Given the description of an element on the screen output the (x, y) to click on. 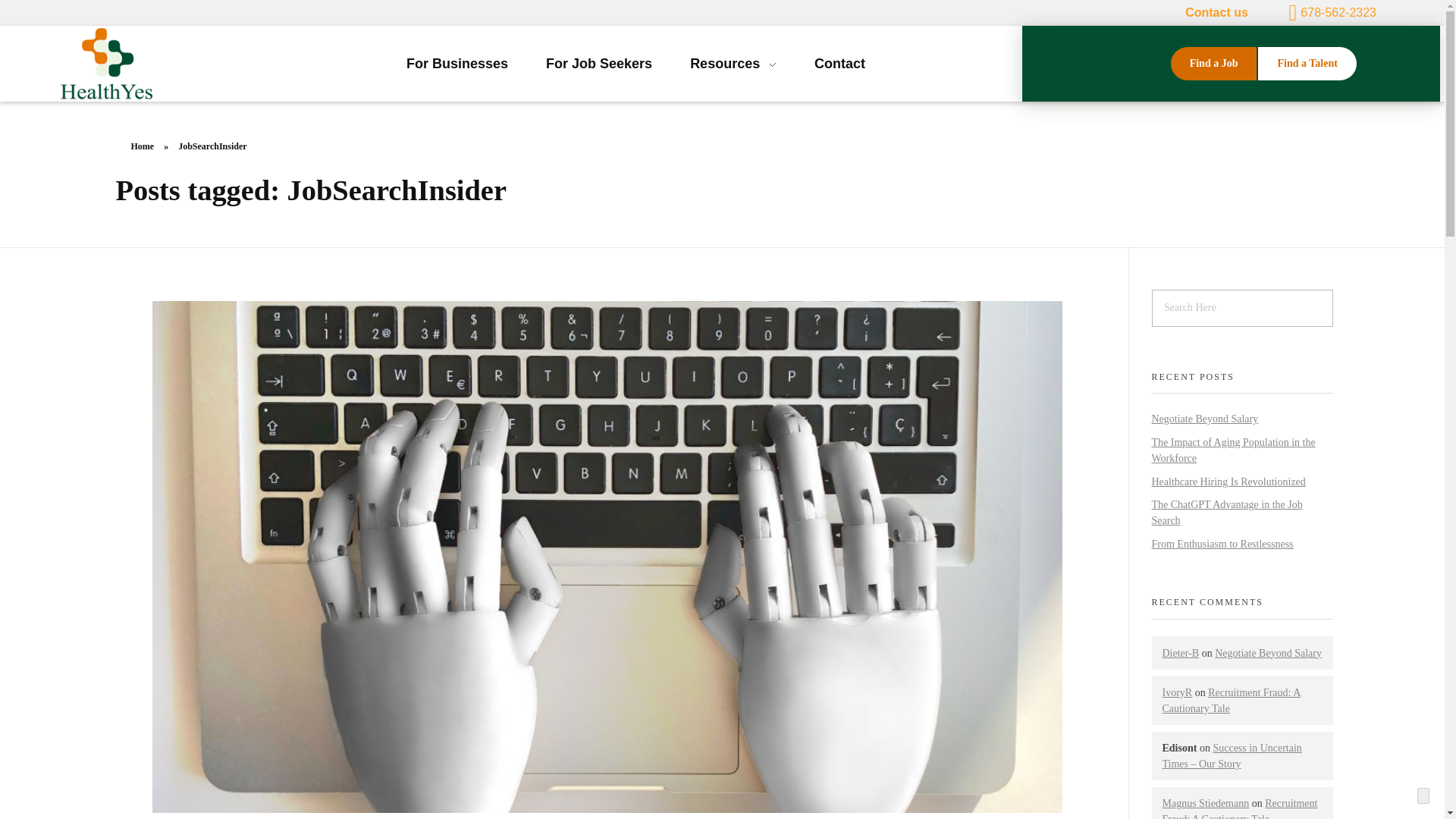
Find a Talent (1307, 63)
Home (142, 145)
For Job Seekers (599, 63)
Resources (733, 63)
Find a Job (1213, 63)
Contact (838, 63)
For Businesses (457, 63)
Contact us (1216, 12)
678-562-2323 (1321, 12)
